Given the description of an element on the screen output the (x, y) to click on. 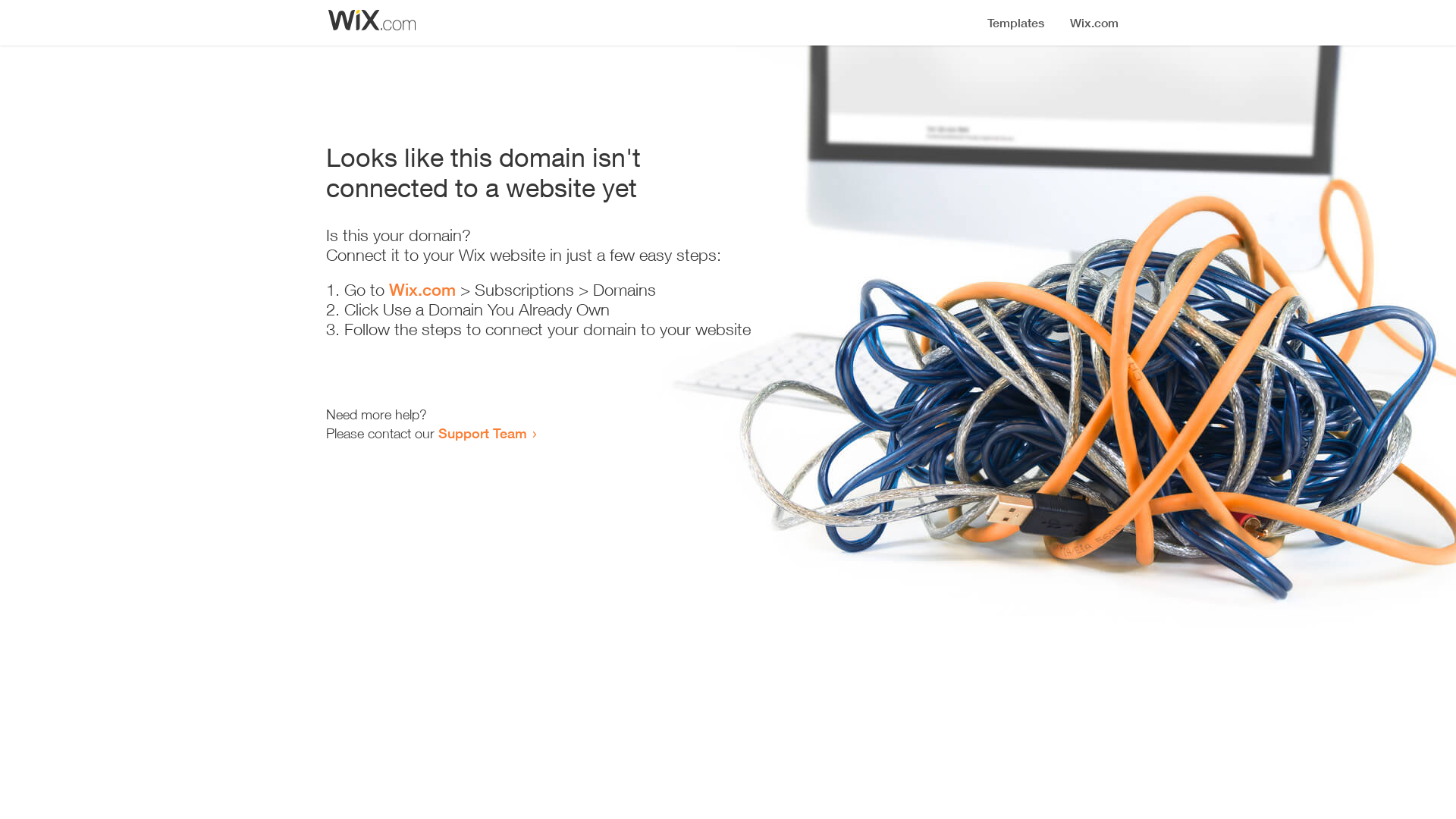
Support Team Element type: text (482, 432)
Wix.com Element type: text (422, 289)
